Given the description of an element on the screen output the (x, y) to click on. 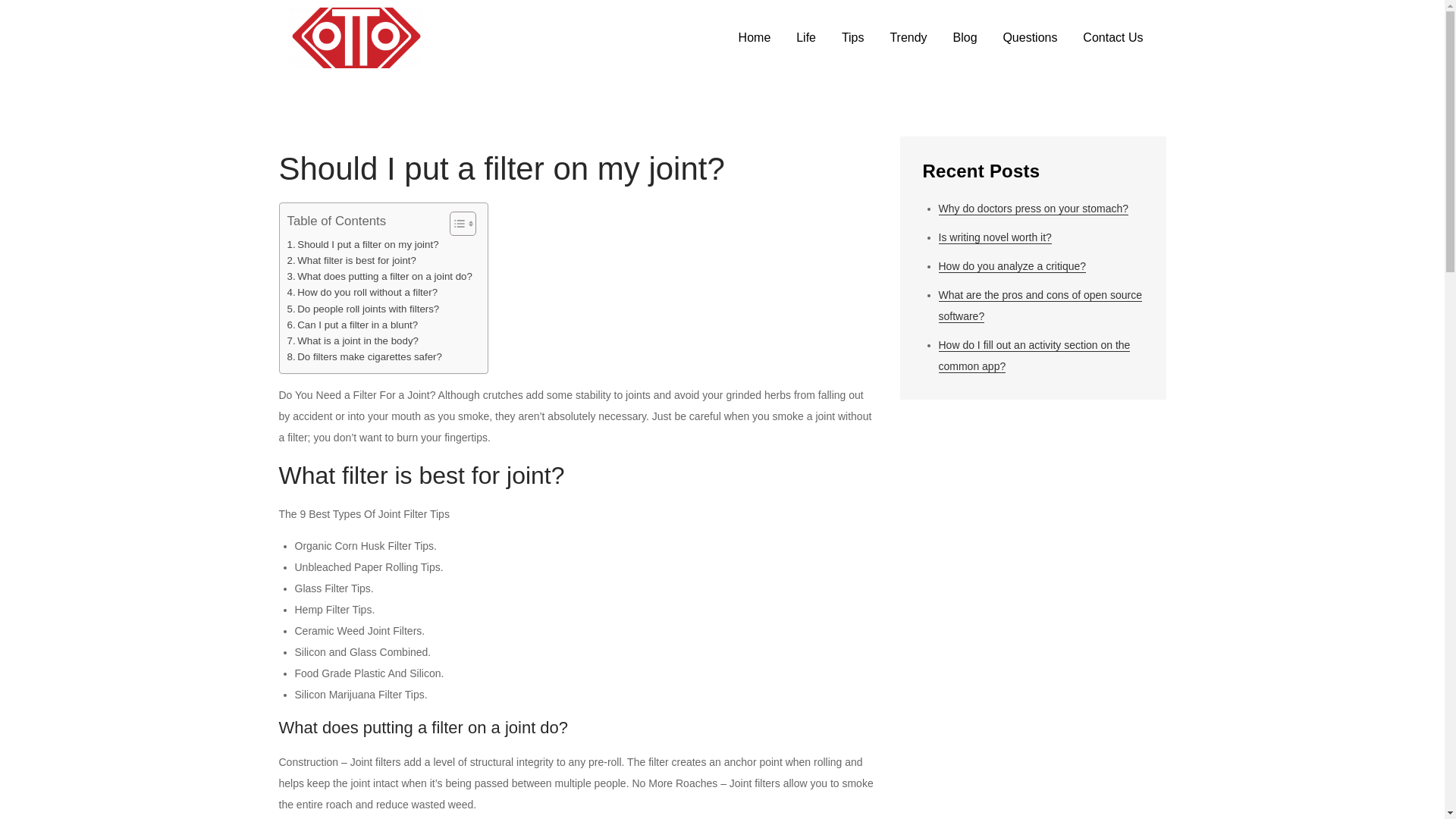
Questions (1029, 38)
How do I fill out an activity section on the common app? (1035, 356)
Ottovonschirach.com (536, 49)
Why do doctors press on your stomach? (1034, 208)
Do filters make cigarettes safer? (363, 356)
What is a joint in the body? (351, 340)
Do filters make cigarettes safer? (363, 356)
What are the pros and cons of open source software? (1040, 305)
What is a joint in the body? (351, 340)
Do people roll joints with filters? (362, 308)
